Given the description of an element on the screen output the (x, y) to click on. 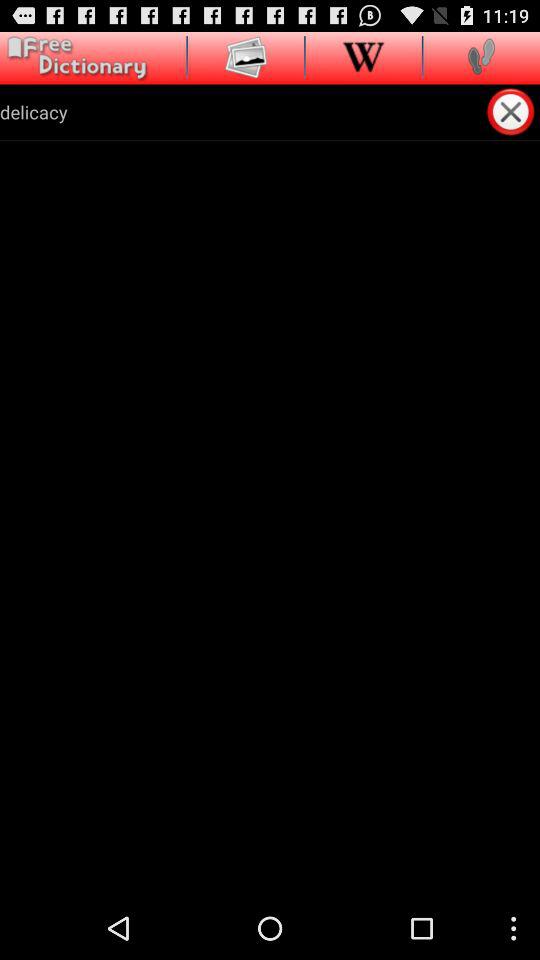
click item above delicacy item (74, 58)
